Given the description of an element on the screen output the (x, y) to click on. 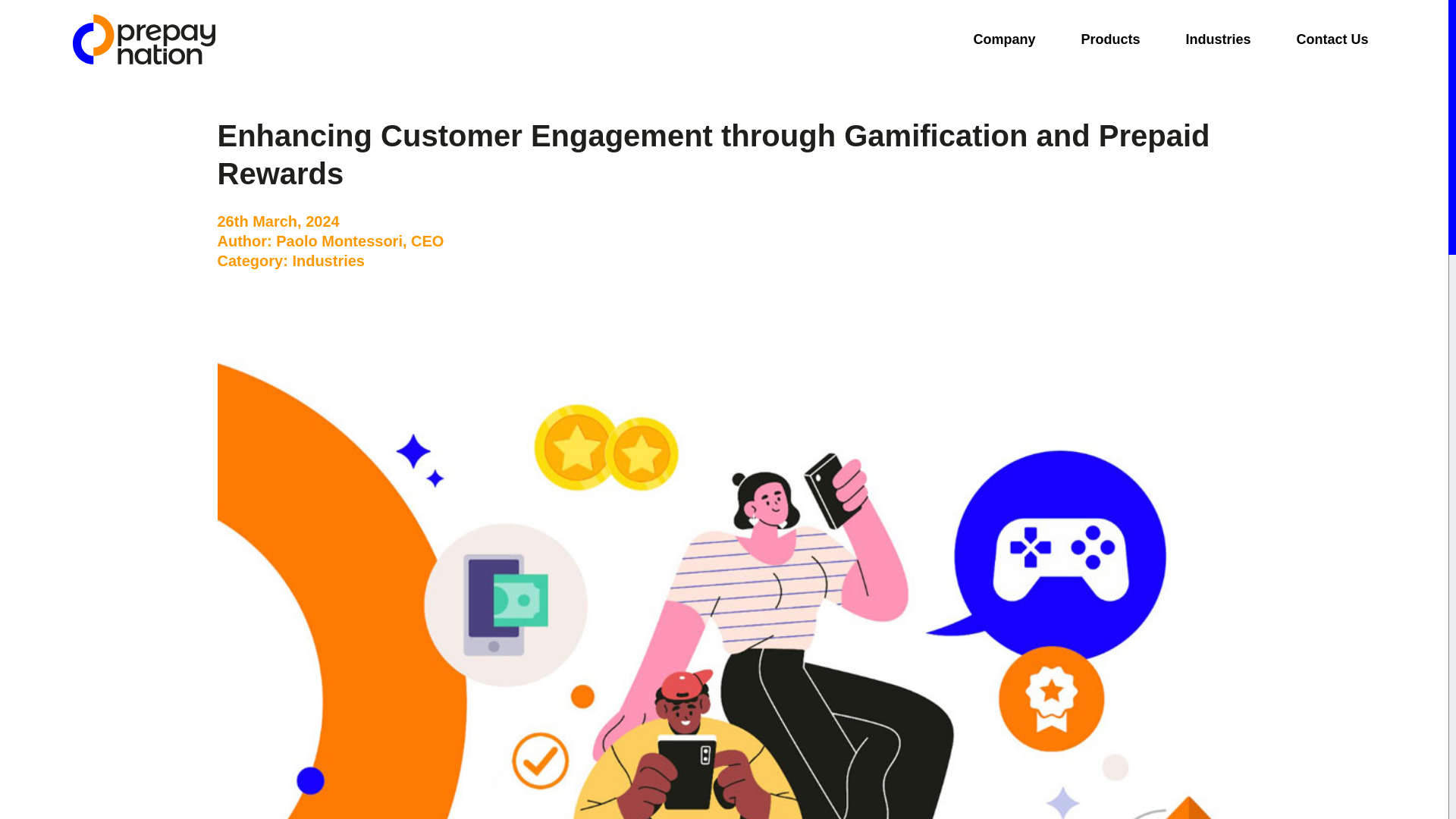
Products (1110, 39)
Industries (1217, 39)
Contact Us (1331, 39)
Company (1003, 39)
